Given the description of an element on the screen output the (x, y) to click on. 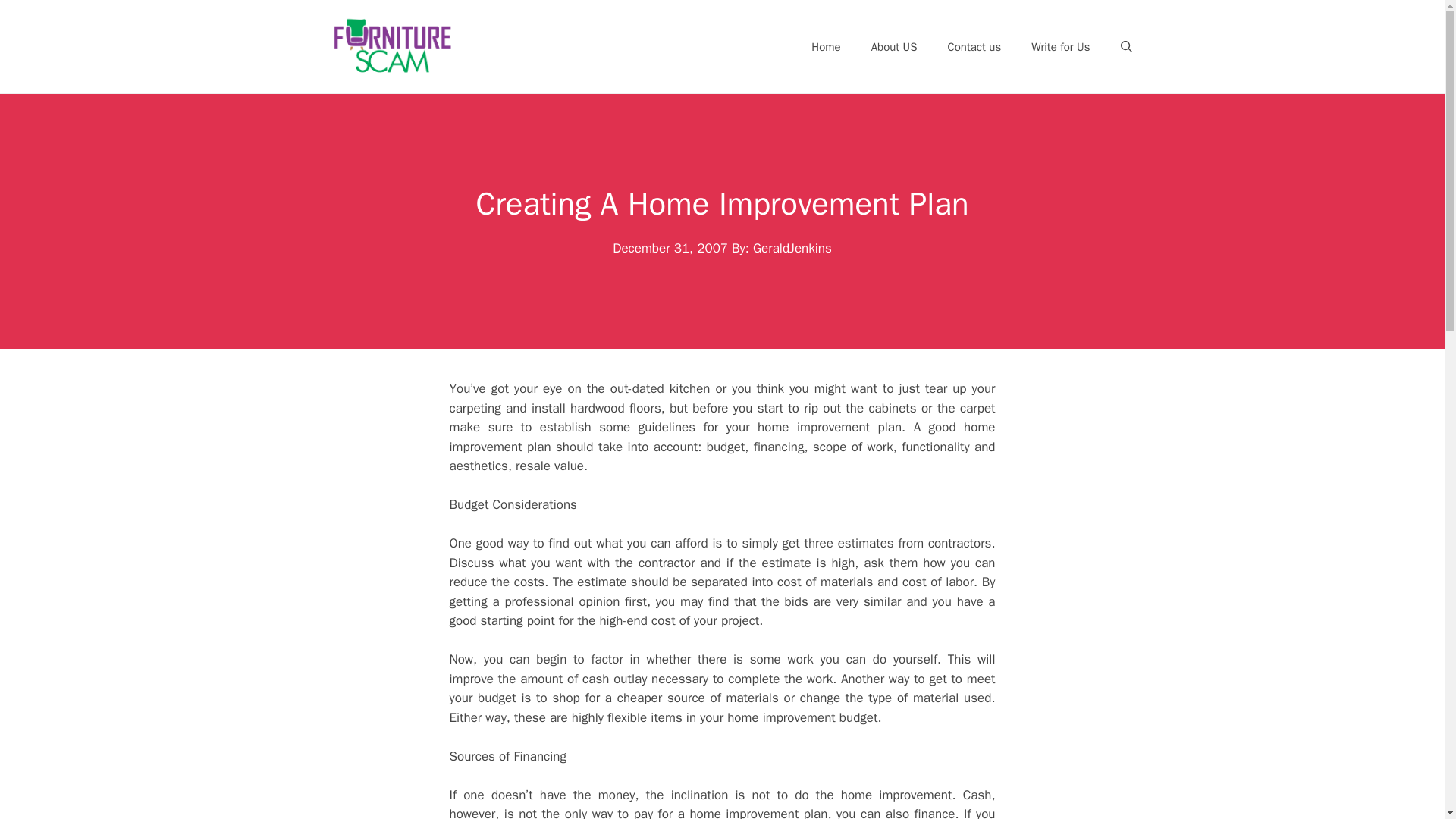
Contact us (973, 46)
About US (894, 46)
Write for Us (1060, 46)
Home (826, 46)
